Given the description of an element on the screen output the (x, y) to click on. 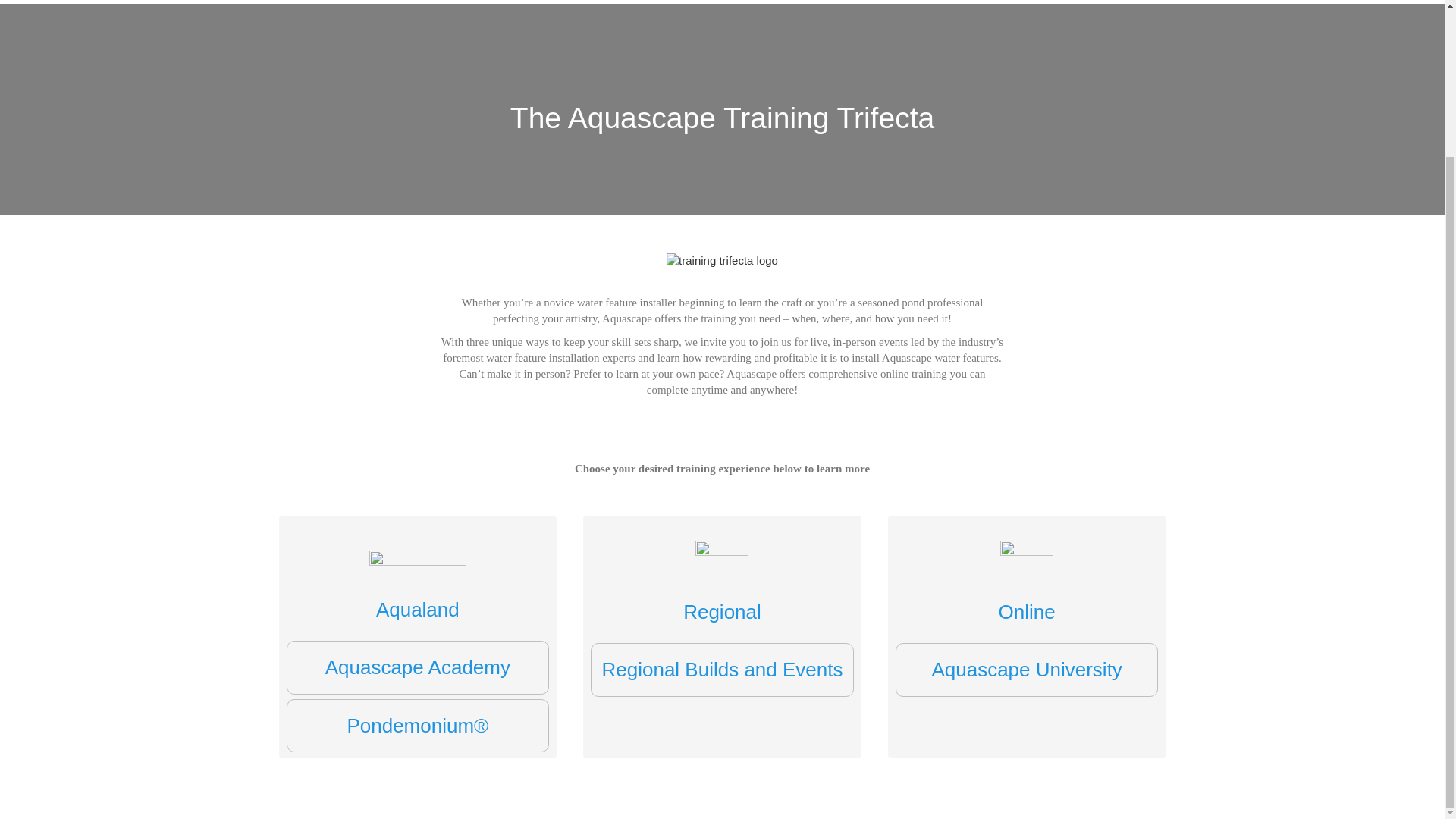
regional icon (721, 566)
YouTube (1101, 590)
Twitter X (1025, 590)
monitor icon (1026, 566)
Instagram (1063, 590)
Aqualand icon (417, 568)
Facebook (987, 590)
Pinterest (1139, 590)
training trifecta logo (721, 260)
